Given the description of an element on the screen output the (x, y) to click on. 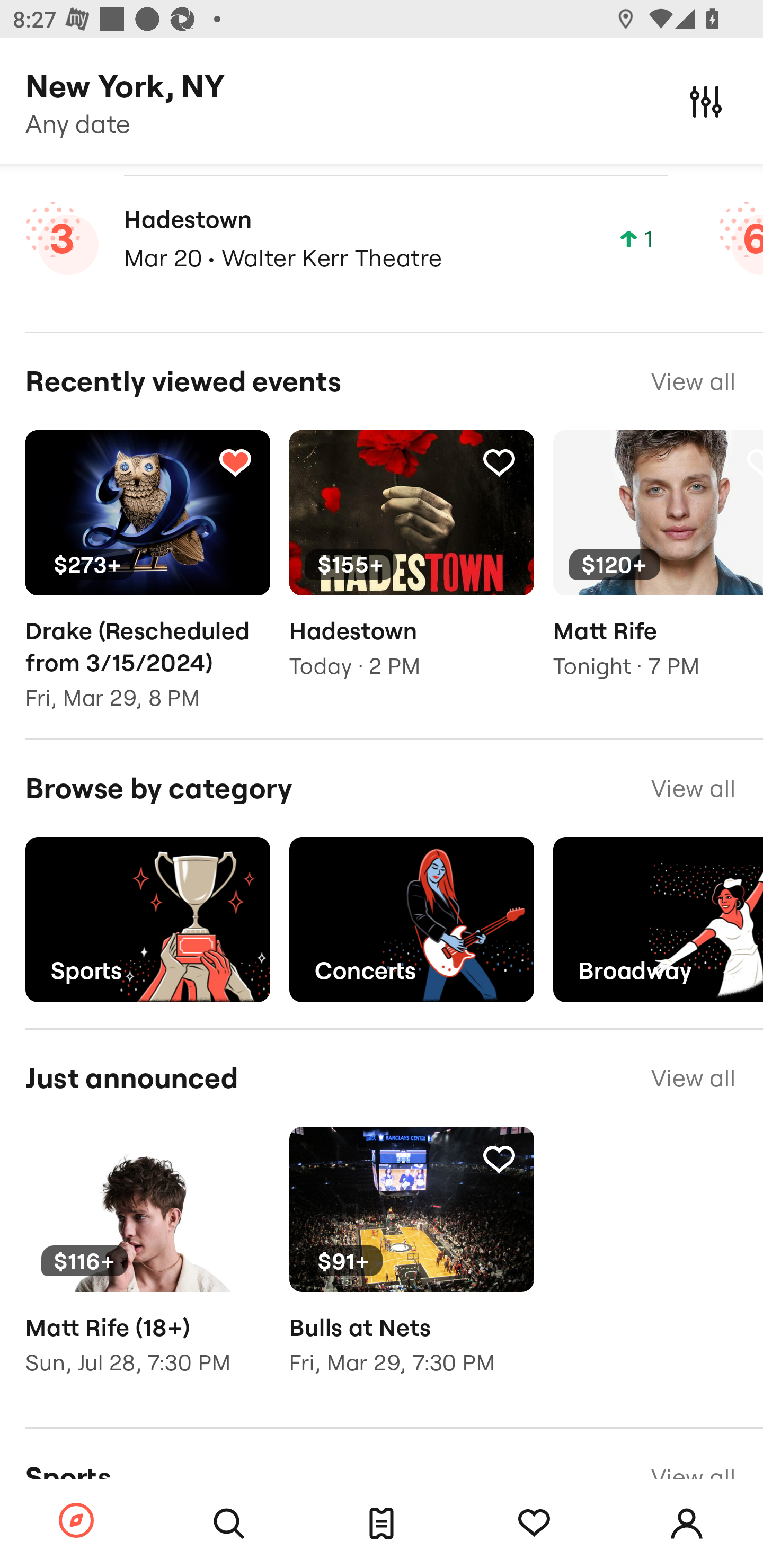
Filters (705, 100)
View all (693, 380)
Tracking $155+ Hadestown Today · 2 PM (411, 567)
Tracking $120+ Matt Rife Tonight · 7 PM (658, 567)
Tracking (234, 461)
Tracking (498, 461)
View all (693, 788)
Sports (147, 919)
Concerts (411, 919)
Broadway (658, 919)
View all (693, 1078)
Tracking $91+ Bulls at Nets Fri, Mar 29, 7:30 PM (411, 1264)
Tracking (234, 1158)
Tracking (498, 1158)
Browse (76, 1521)
Search (228, 1523)
Tickets (381, 1523)
Tracking (533, 1523)
Account (686, 1523)
